Given the description of an element on the screen output the (x, y) to click on. 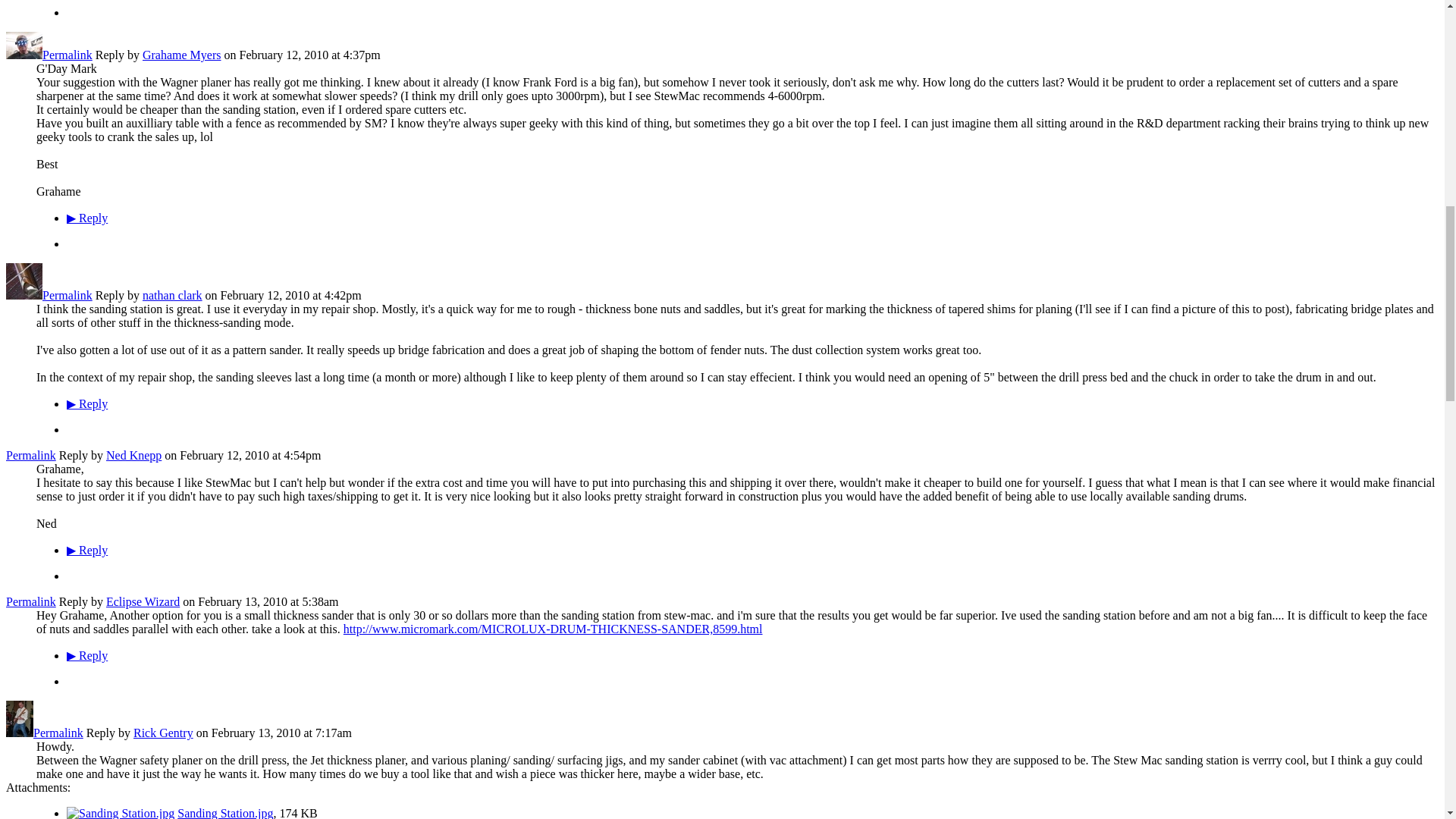
nathan clark (172, 295)
Permalink (30, 454)
Ned Knepp (133, 454)
Permalink to this Reply (30, 454)
Permalink (67, 54)
Permalink to this Reply (30, 601)
Permalink to this Reply (57, 732)
Grahame Myers (181, 54)
Permalink (67, 295)
Rick Gentry (19, 732)
Permalink to this Reply (67, 54)
Grahame Myers (23, 54)
nathan clark (23, 295)
Permalink to this Reply (67, 295)
